Given the description of an element on the screen output the (x, y) to click on. 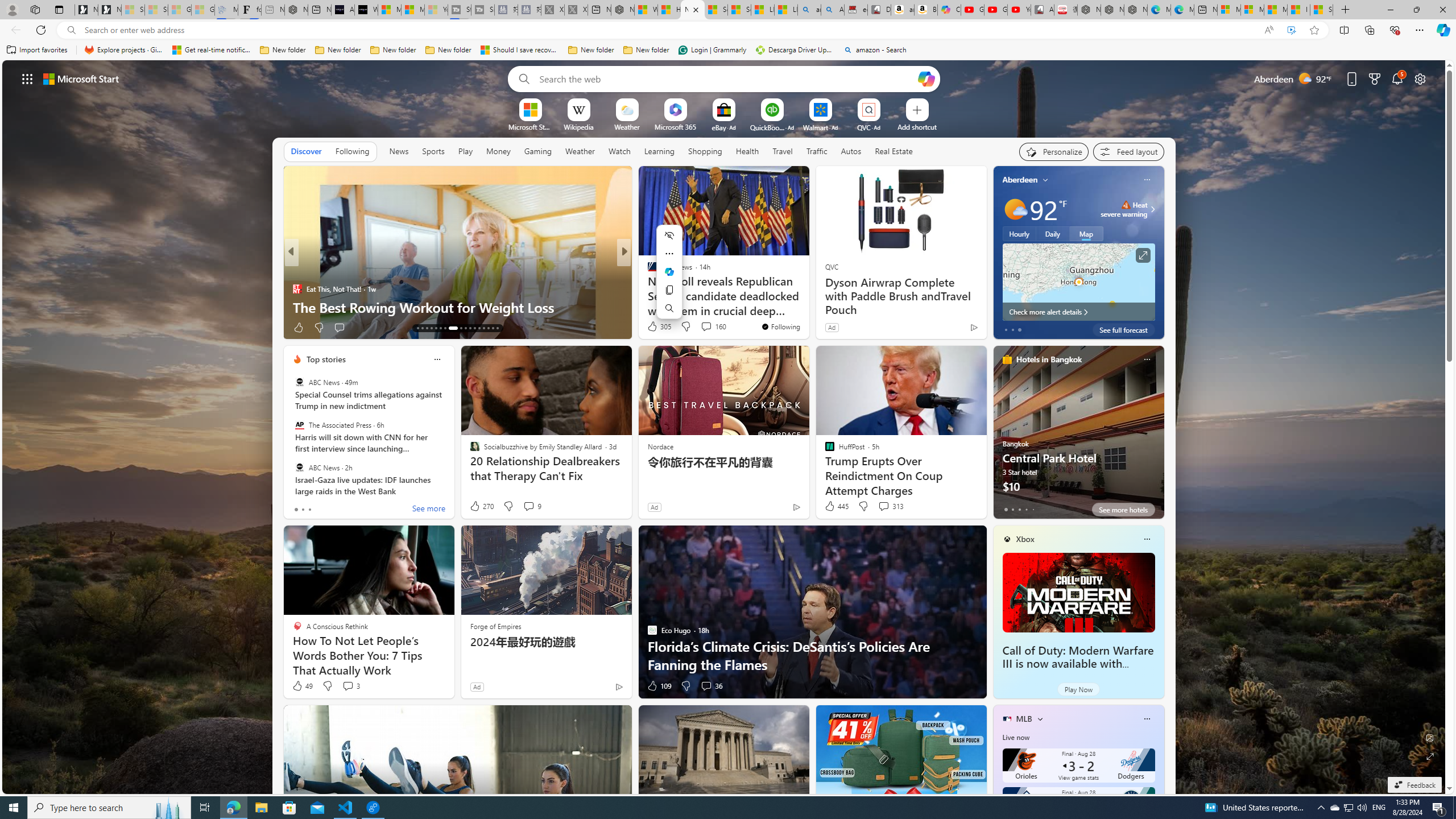
View comments 48 Comment (6, 327)
New Tab (1346, 9)
Xbox (1025, 538)
Following (352, 151)
View comments 3 Comment (347, 685)
Watch (619, 151)
Collections (1369, 29)
Notifications (1397, 78)
tab-2 (1019, 509)
Favorites bar (728, 49)
AutomationID: waffle (27, 78)
News (398, 151)
Hotels in Bangkok (1048, 359)
Back (13, 29)
